Given the description of an element on the screen output the (x, y) to click on. 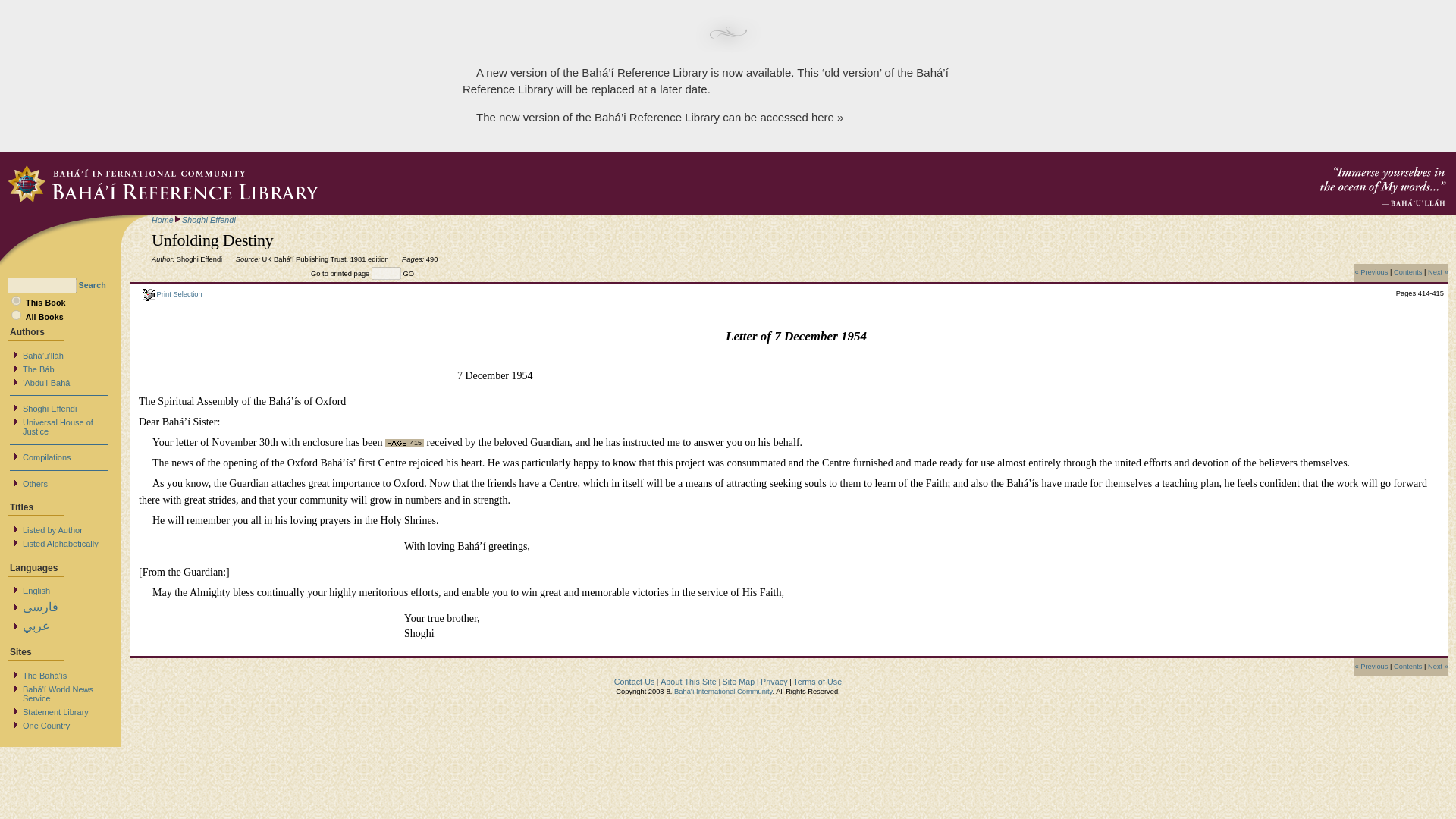
Shoghi Effendi (50, 408)
Compilations (47, 456)
English (36, 590)
Universal House of Justice (58, 425)
Listed Alphabetically (61, 542)
Listed by Author (52, 529)
Contents (1407, 271)
Contents (1407, 665)
Home (162, 219)
Others (35, 483)
